Given the description of an element on the screen output the (x, y) to click on. 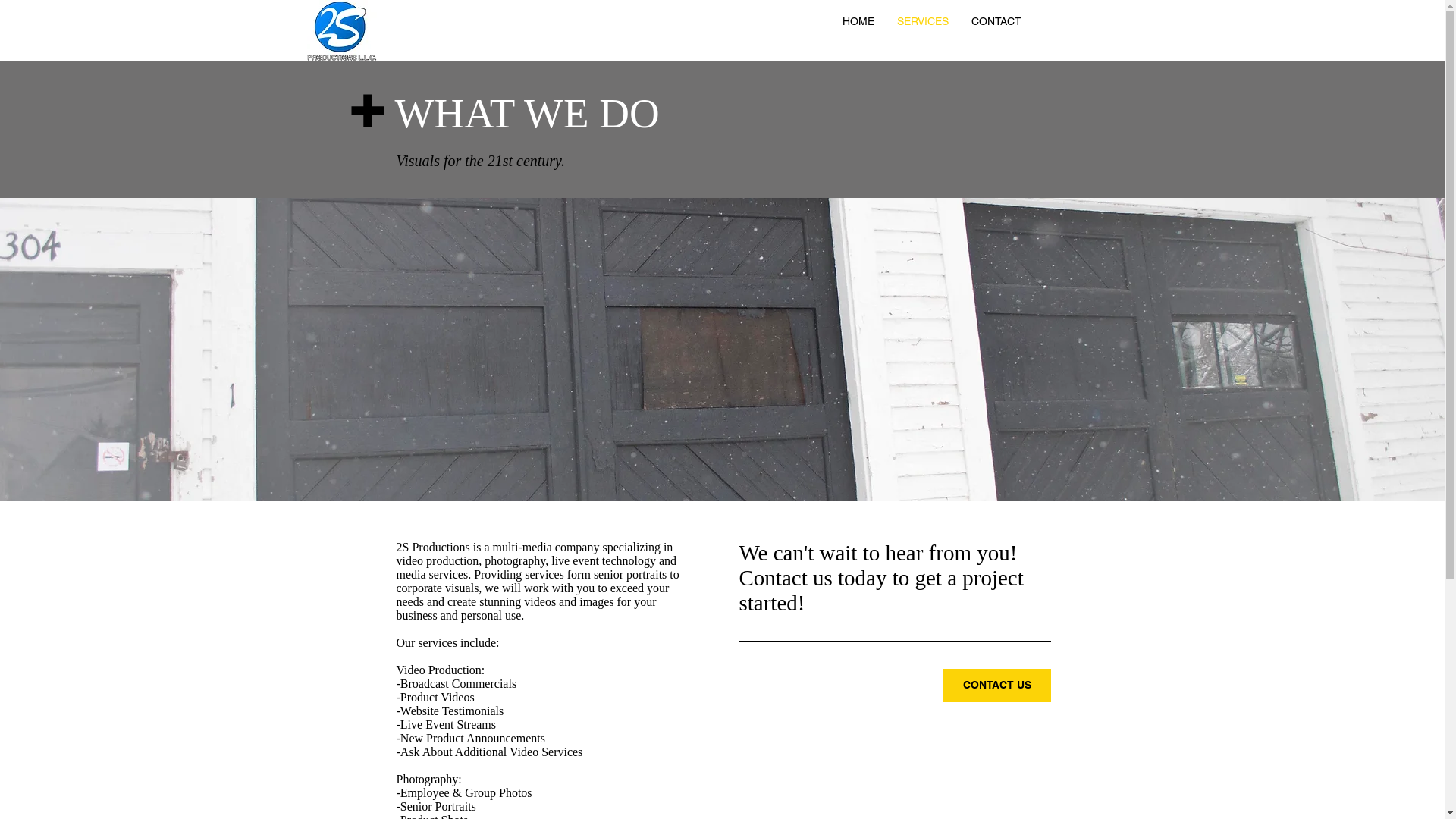
HOME Element type: text (858, 20)
CONTACT Element type: text (996, 20)
CONTACT US Element type: text (997, 685)
SERVICES Element type: text (922, 20)
